Given the description of an element on the screen output the (x, y) to click on. 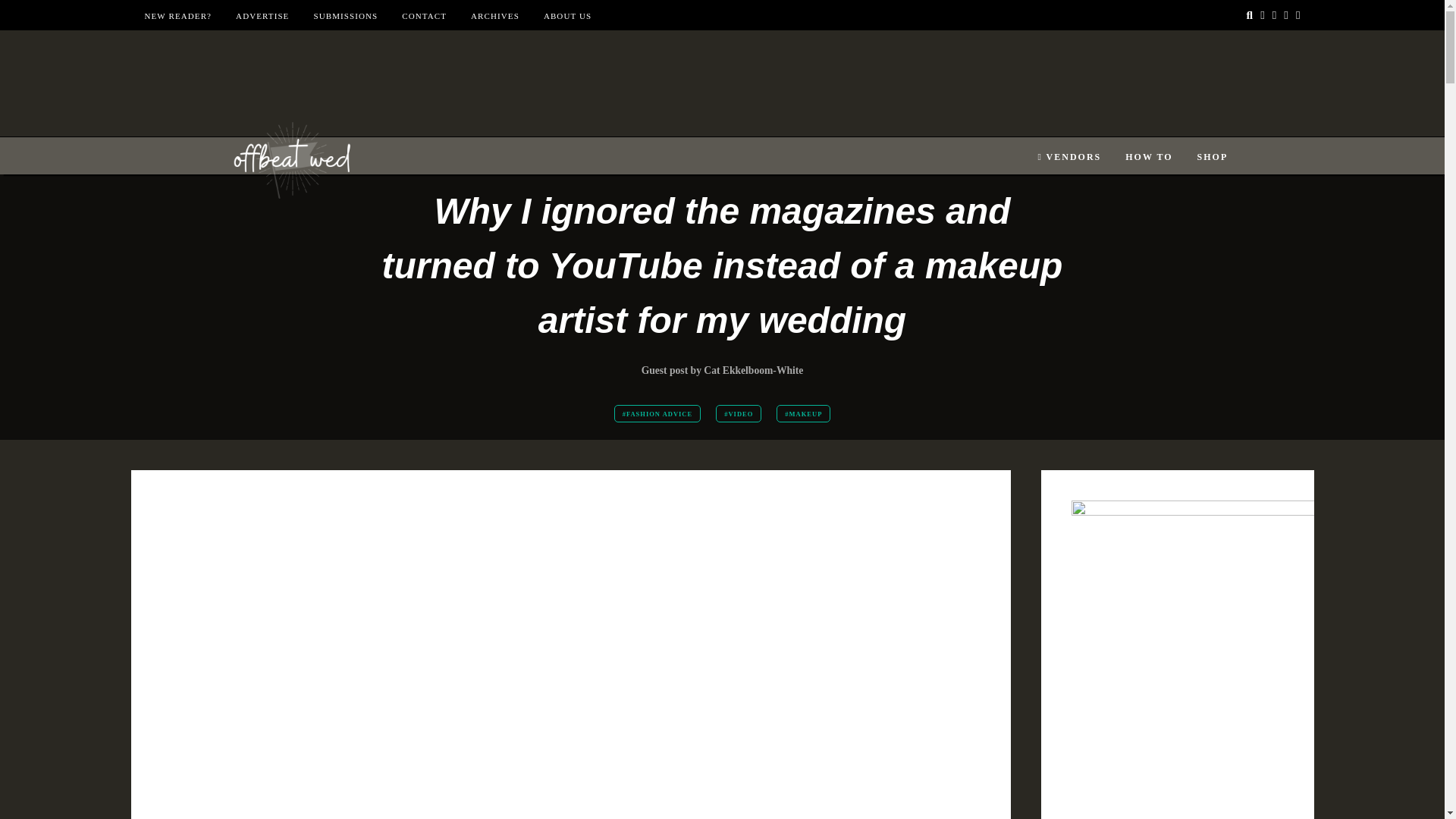
ABOUT US (567, 15)
NEW READER? (177, 15)
ARCHIVES (494, 15)
HOW TO (1148, 157)
SUBMISSIONS (345, 15)
CONTACT (423, 15)
ADVERTISE (261, 15)
